Given the description of an element on the screen output the (x, y) to click on. 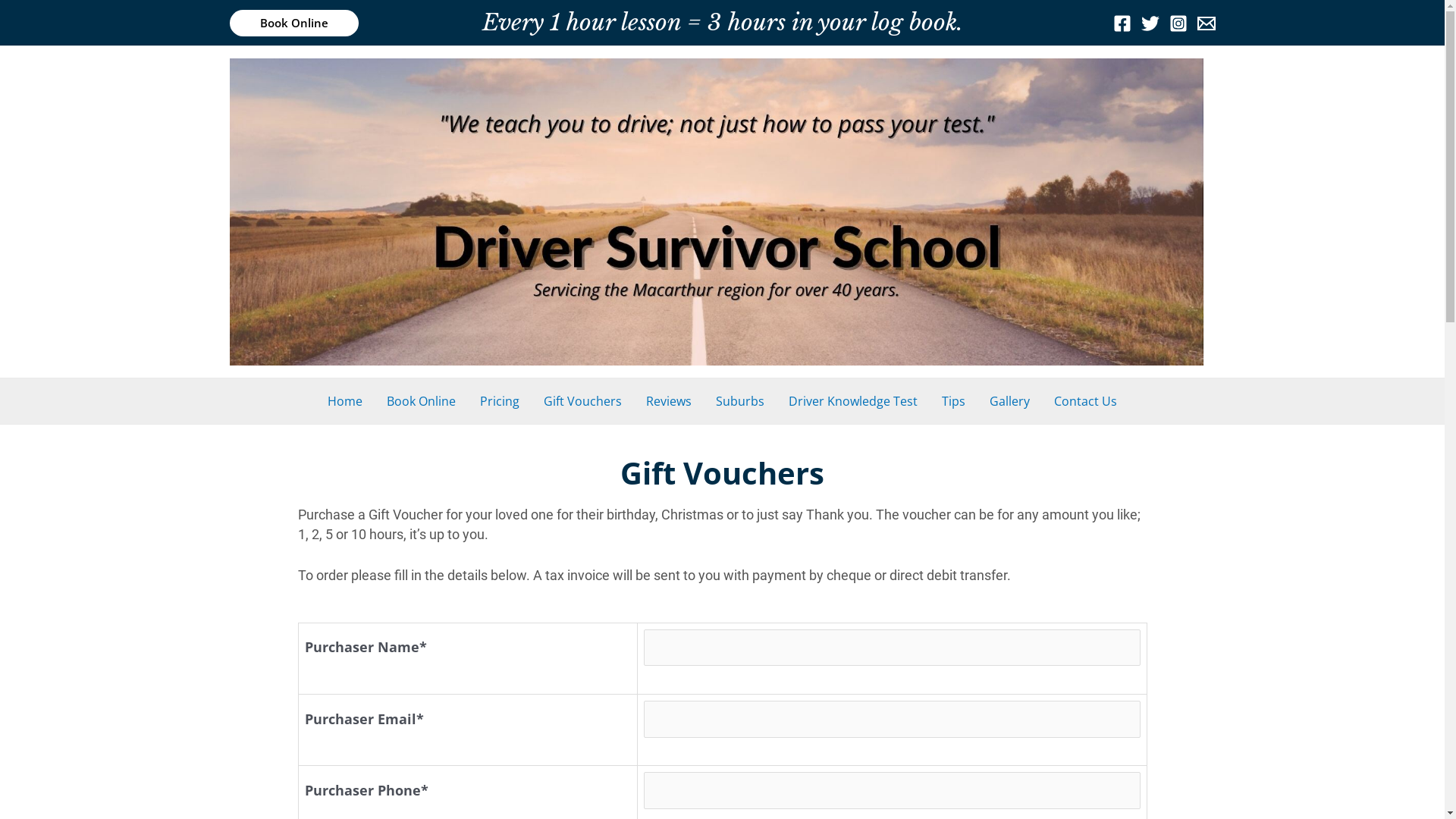
Suburbs Element type: text (739, 400)
Tips Element type: text (953, 400)
Gallery Element type: text (1009, 400)
Home Element type: text (344, 400)
Book Online Element type: text (420, 400)
Pricing Element type: text (499, 400)
Driver Knowledge Test Element type: text (852, 400)
Contact Us Element type: text (1085, 400)
Book Online Element type: text (293, 22)
Reviews Element type: text (668, 400)
Gift Vouchers Element type: text (582, 400)
